Given the description of an element on the screen output the (x, y) to click on. 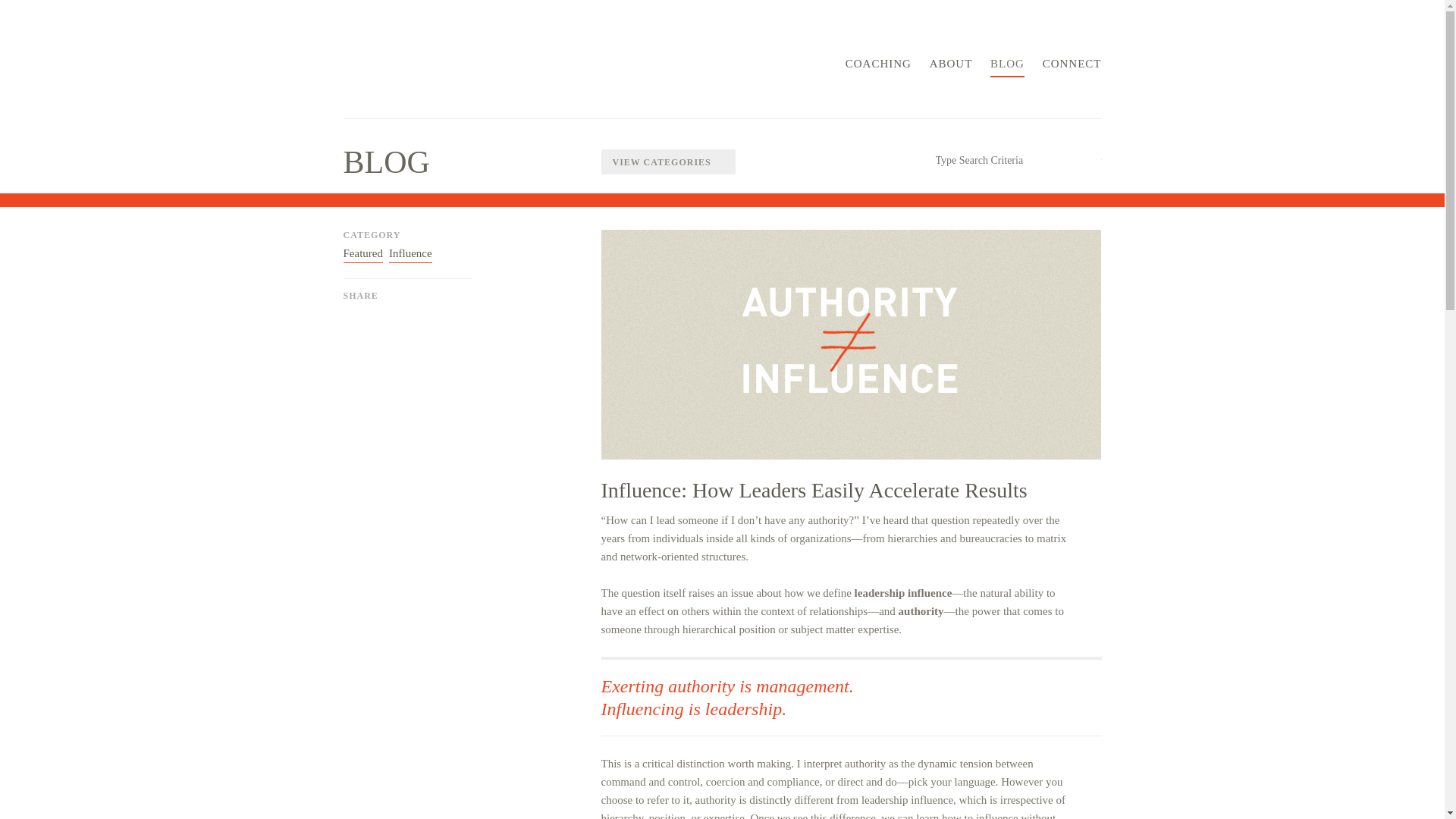
BLOG (1007, 66)
CONNECT (1072, 66)
Mark Cappellino (406, 61)
VIEW CATEGORIES (667, 161)
Influence (410, 253)
COACHING (878, 66)
ABOUT (951, 66)
Influence: How Leaders Easily Accelerate Results (812, 490)
Featured (361, 253)
